Given the description of an element on the screen output the (x, y) to click on. 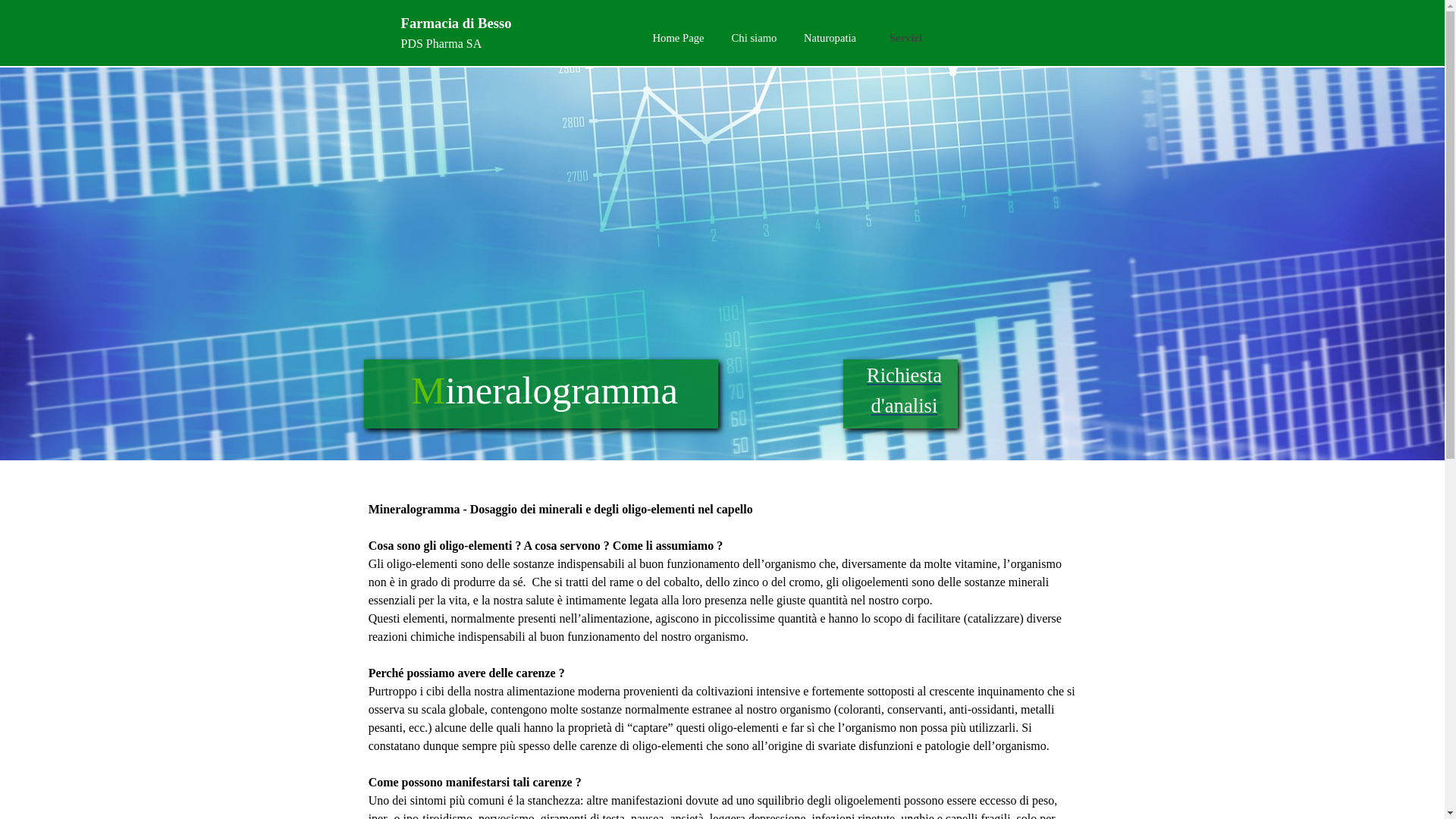
Richiesta d'analisi Element type: text (903, 390)
Home Page Element type: text (677, 37)
